Given the description of an element on the screen output the (x, y) to click on. 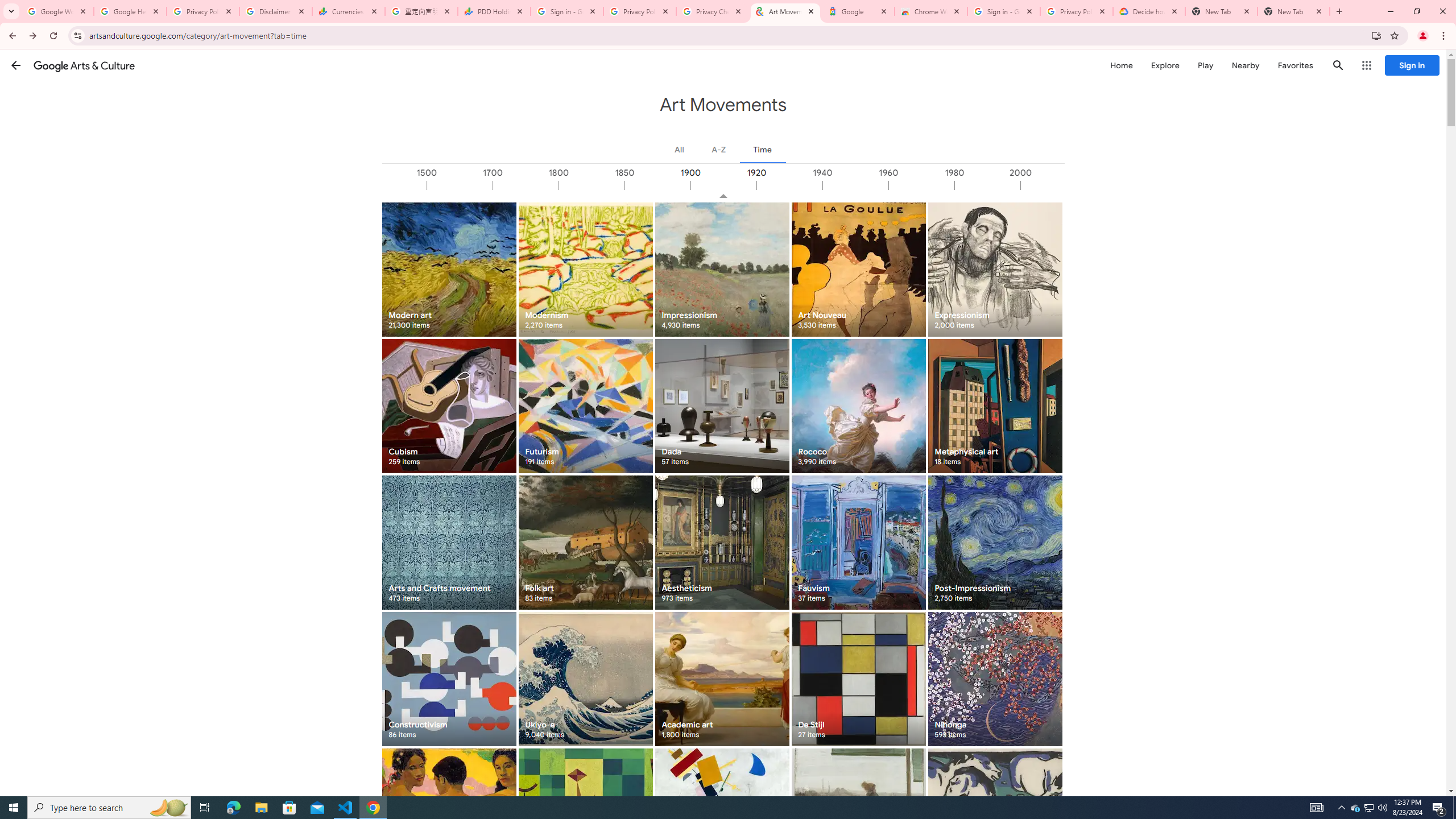
All (679, 148)
Academic art 1,800 items (722, 678)
Currencies - Google Finance (348, 11)
2000 (1052, 185)
Folk art 83 items (585, 542)
Metaphysical art 18 items (994, 406)
Arts and Crafts movement 473 items (448, 542)
Futurism 191 items (585, 406)
